Given the description of an element on the screen output the (x, y) to click on. 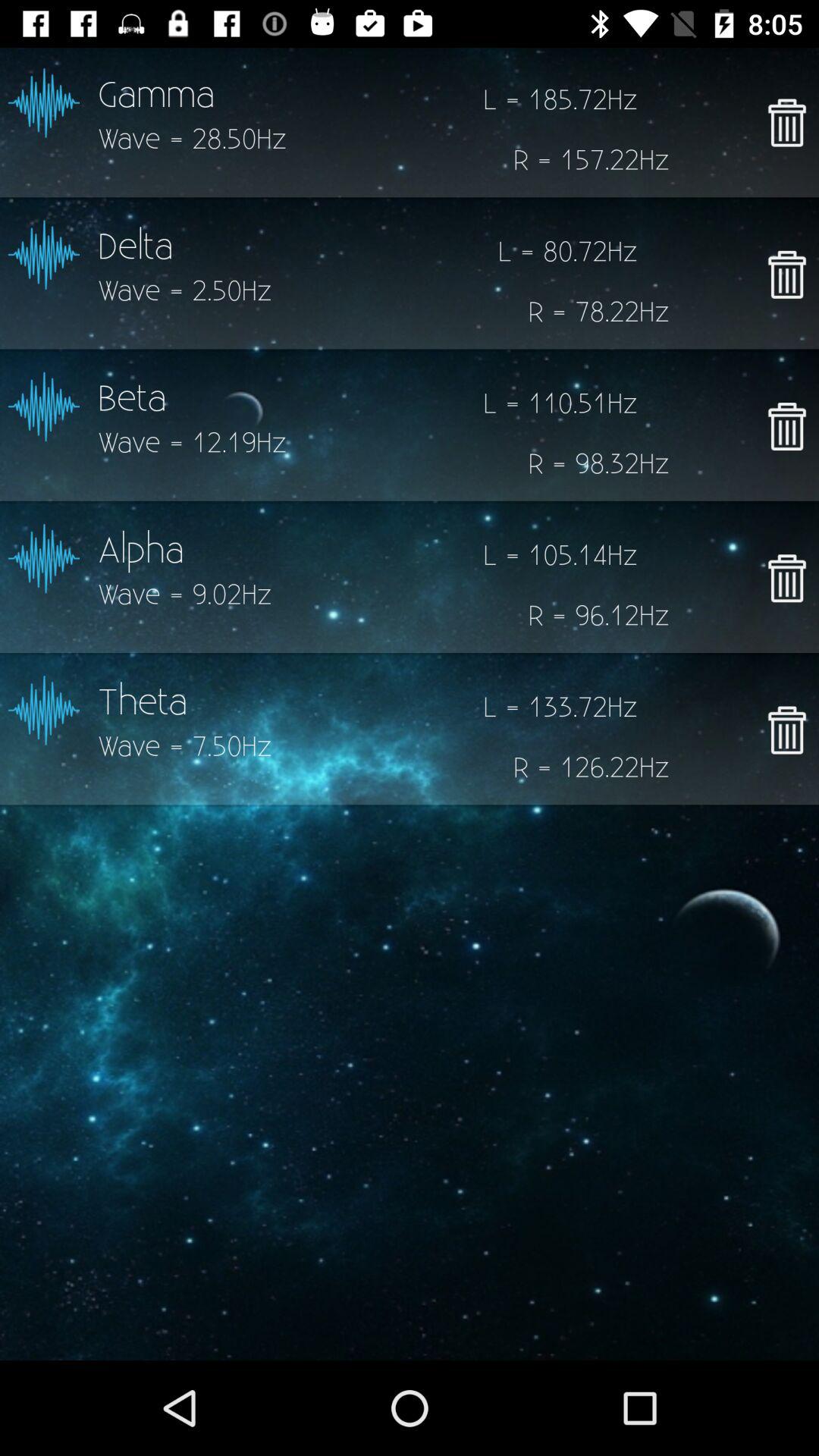
to delete (787, 273)
